Given the description of an element on the screen output the (x, y) to click on. 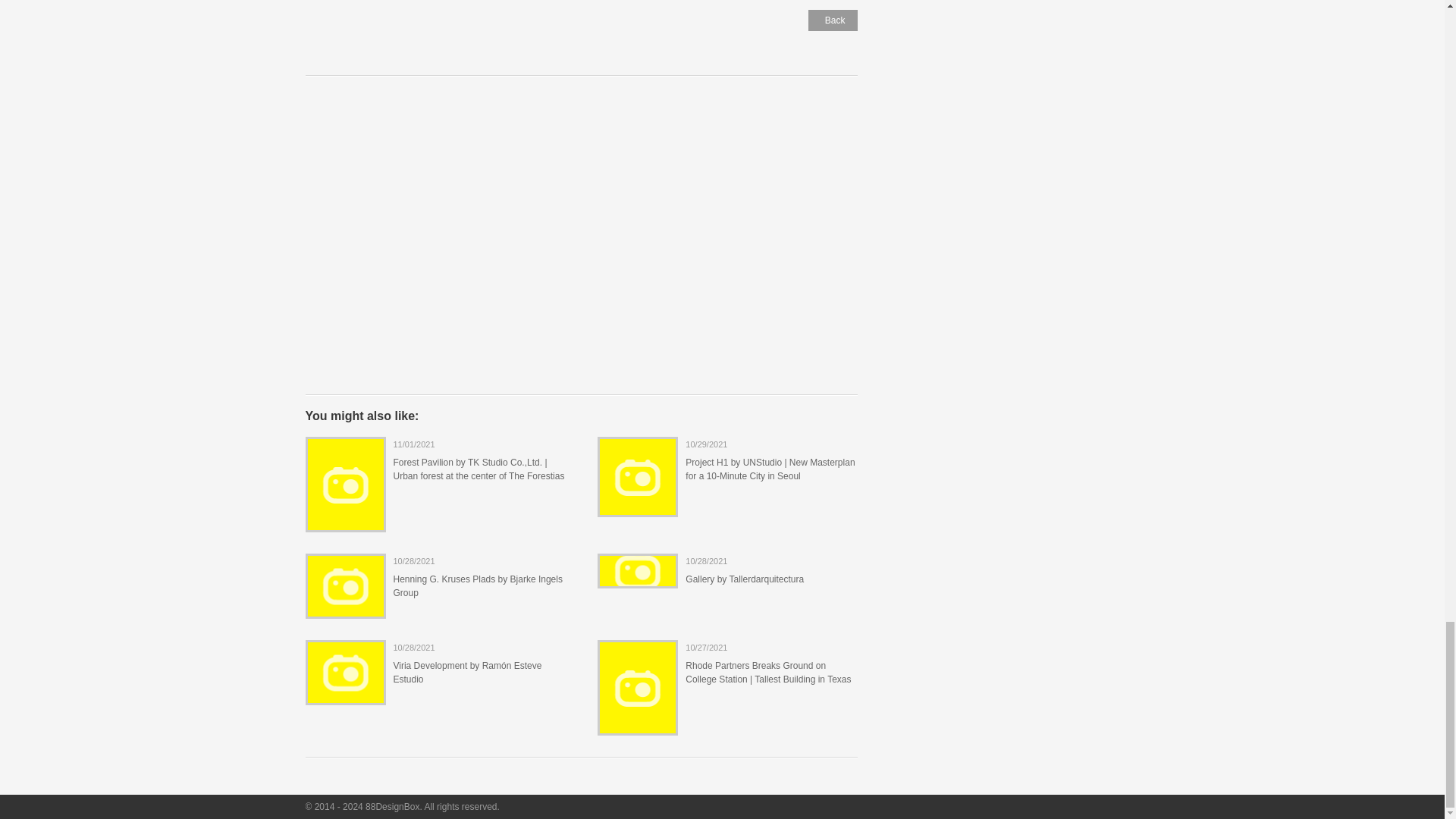
Henning G. Kruses Plads by Bjarke Ingels Group (345, 608)
Back (832, 20)
Henning G. Kruses Plads by Bjarke Ingels Group (477, 586)
Gallery by Tallerdarquitectura (744, 579)
